Given the description of an element on the screen output the (x, y) to click on. 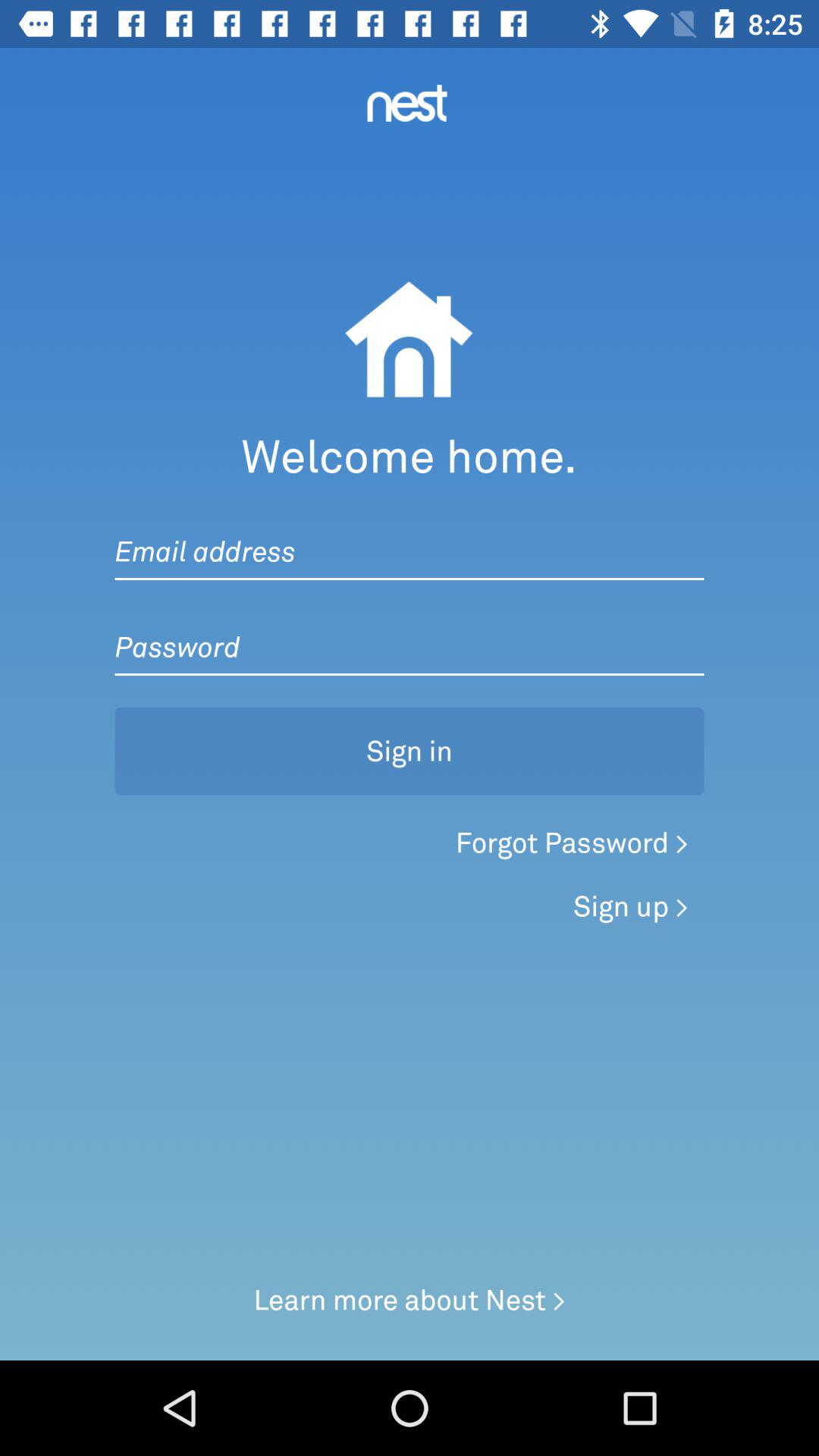
flip to sign in icon (409, 751)
